Given the description of an element on the screen output the (x, y) to click on. 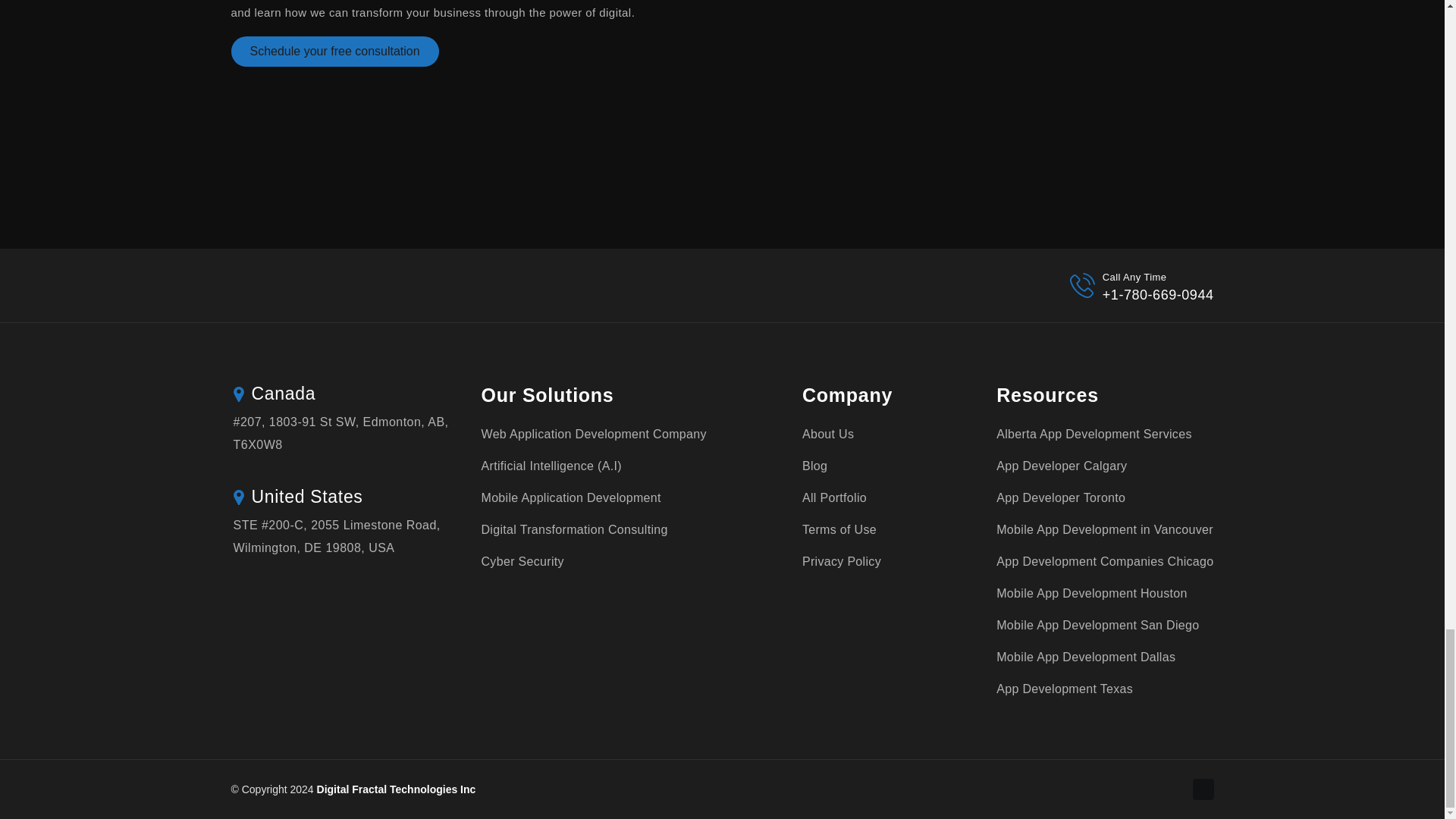
Digital Transformation Consulting (573, 529)
Cyber Security (521, 561)
Mobile Application Development (570, 497)
About Us (827, 433)
Blog (814, 465)
Schedule your free consultation (334, 51)
Web Application Development Company (593, 433)
All Portfolio (834, 497)
